Given the description of an element on the screen output the (x, y) to click on. 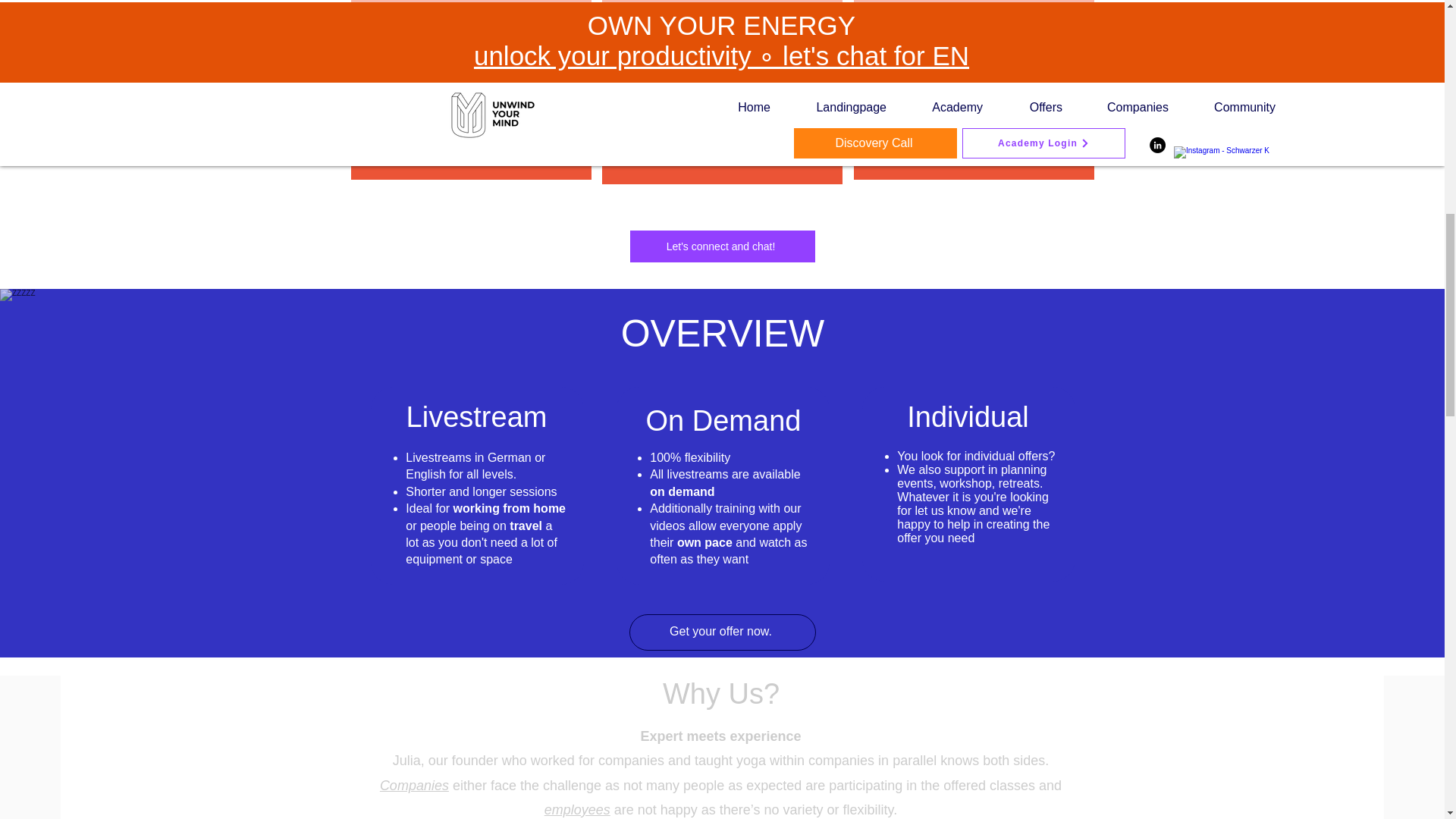
Let's connect and chat! (720, 246)
Get your offer now. (721, 632)
